Given the description of an element on the screen output the (x, y) to click on. 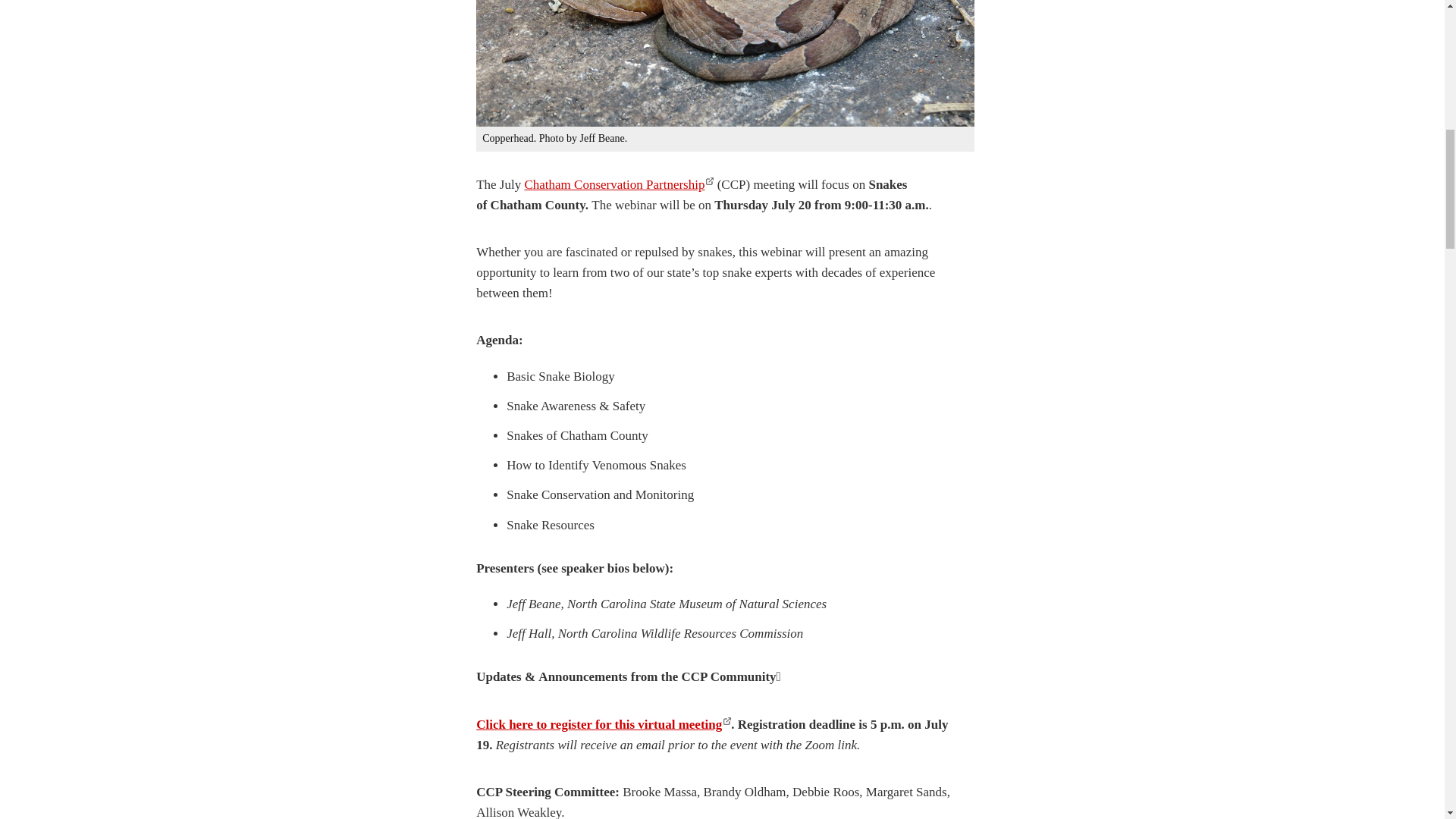
Chatham Conservation Partnership (618, 184)
Click here to register for this virtual meeting (603, 724)
